Given the description of an element on the screen output the (x, y) to click on. 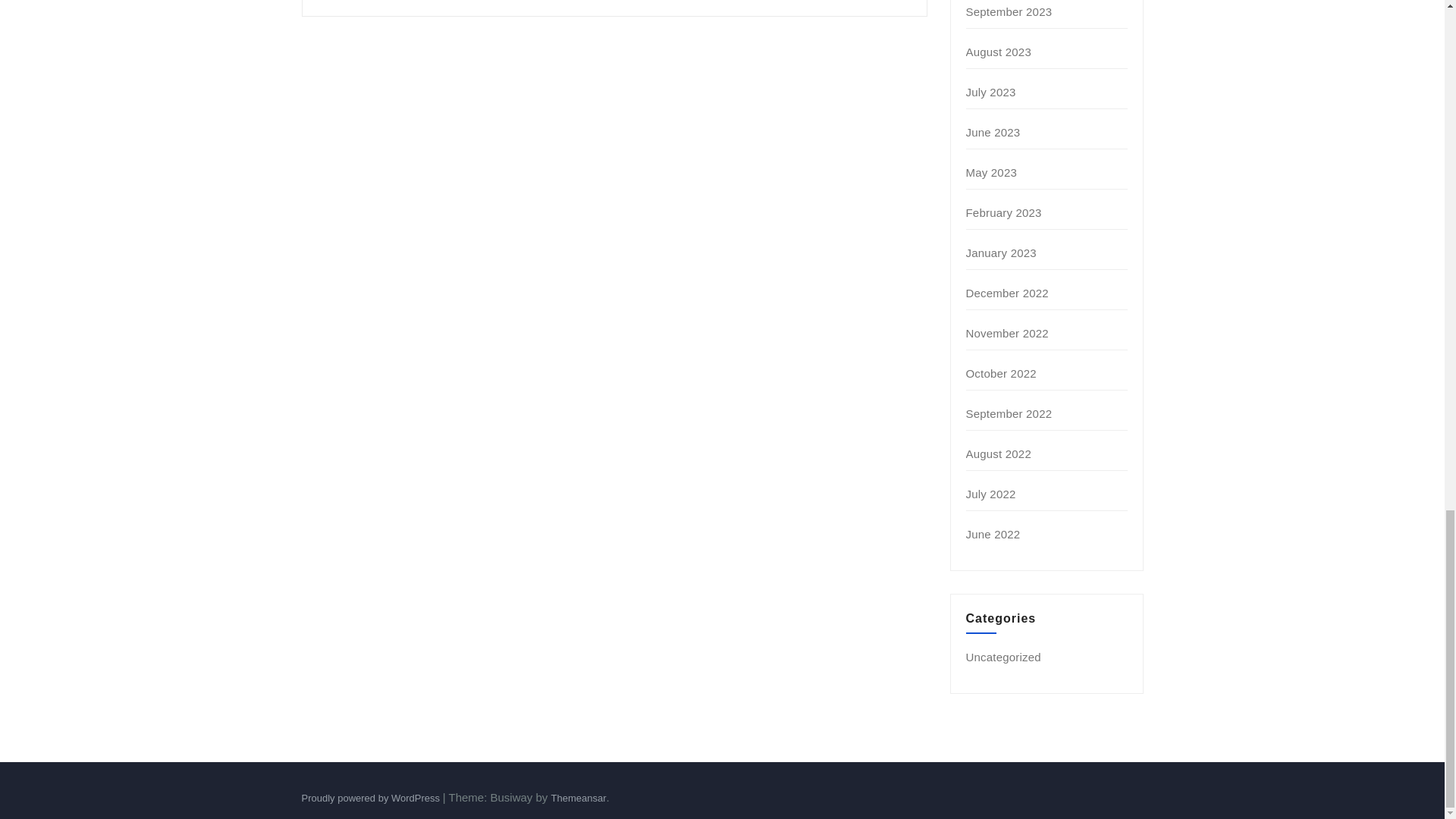
August 2022 (998, 453)
September 2023 (1009, 11)
June 2023 (993, 132)
December 2022 (1007, 292)
February 2023 (1004, 212)
August 2023 (998, 51)
September 2022 (1009, 413)
November 2022 (1007, 332)
May 2023 (991, 172)
January 2023 (1001, 252)
